Given the description of an element on the screen output the (x, y) to click on. 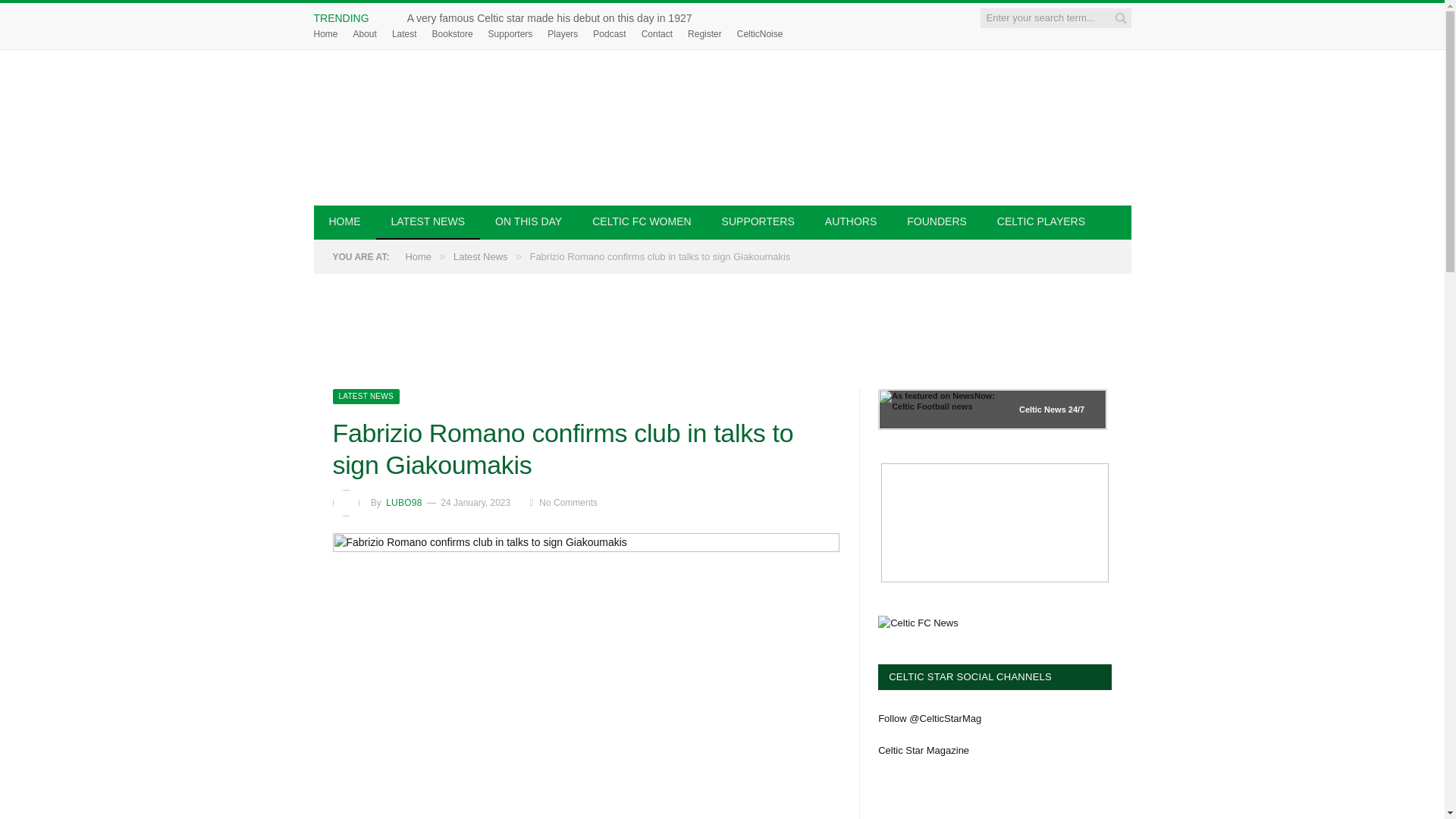
The Celtic Star (722, 127)
A very famous Celtic star made his debut on this day in 1927 (553, 18)
Home (325, 33)
Register (704, 33)
About (365, 33)
Bookstore (452, 33)
ON THIS DAY (528, 222)
SUPPORTERS (757, 222)
CelticNoise (759, 33)
Supporters (509, 33)
CELTIC PLAYERS (1040, 222)
AUTHORS (850, 222)
A very famous Celtic star made his debut on this day in 1927 (553, 18)
Players (562, 33)
Latest News (365, 396)
